Given the description of an element on the screen output the (x, y) to click on. 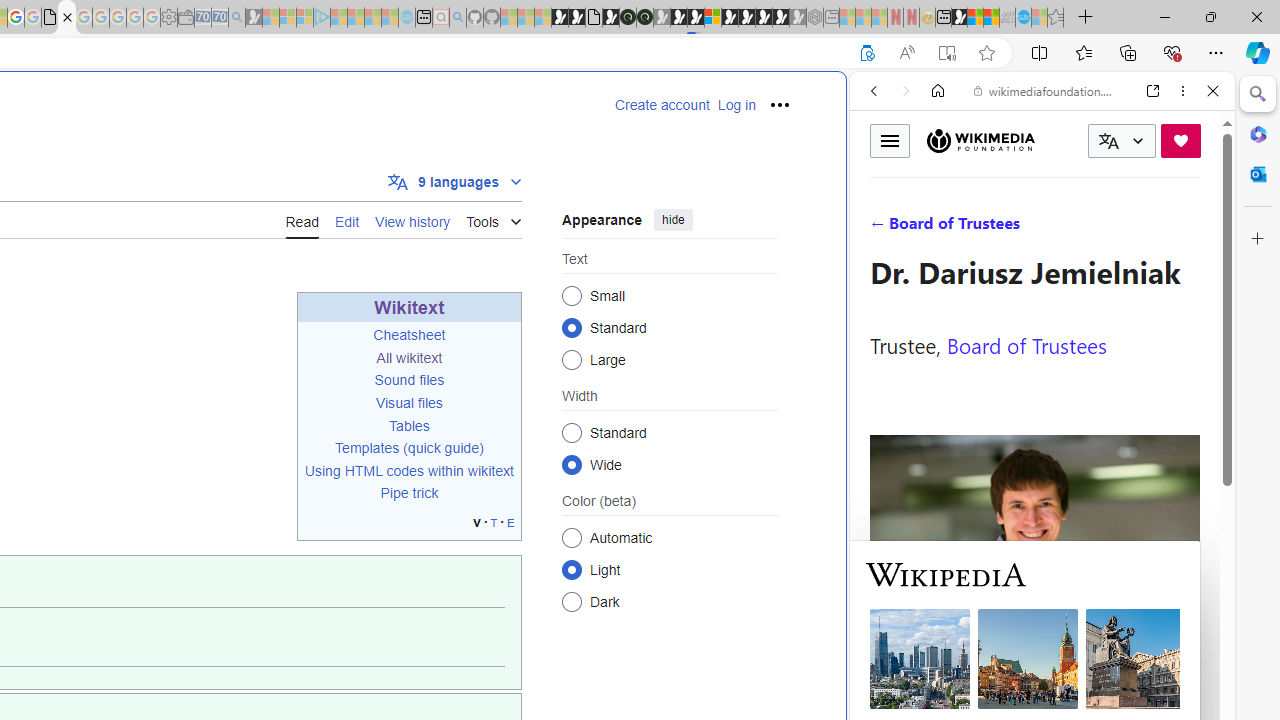
Light (571, 569)
Personal tools (780, 104)
Wiktionary (1034, 669)
Small (571, 295)
